Given the description of an element on the screen output the (x, y) to click on. 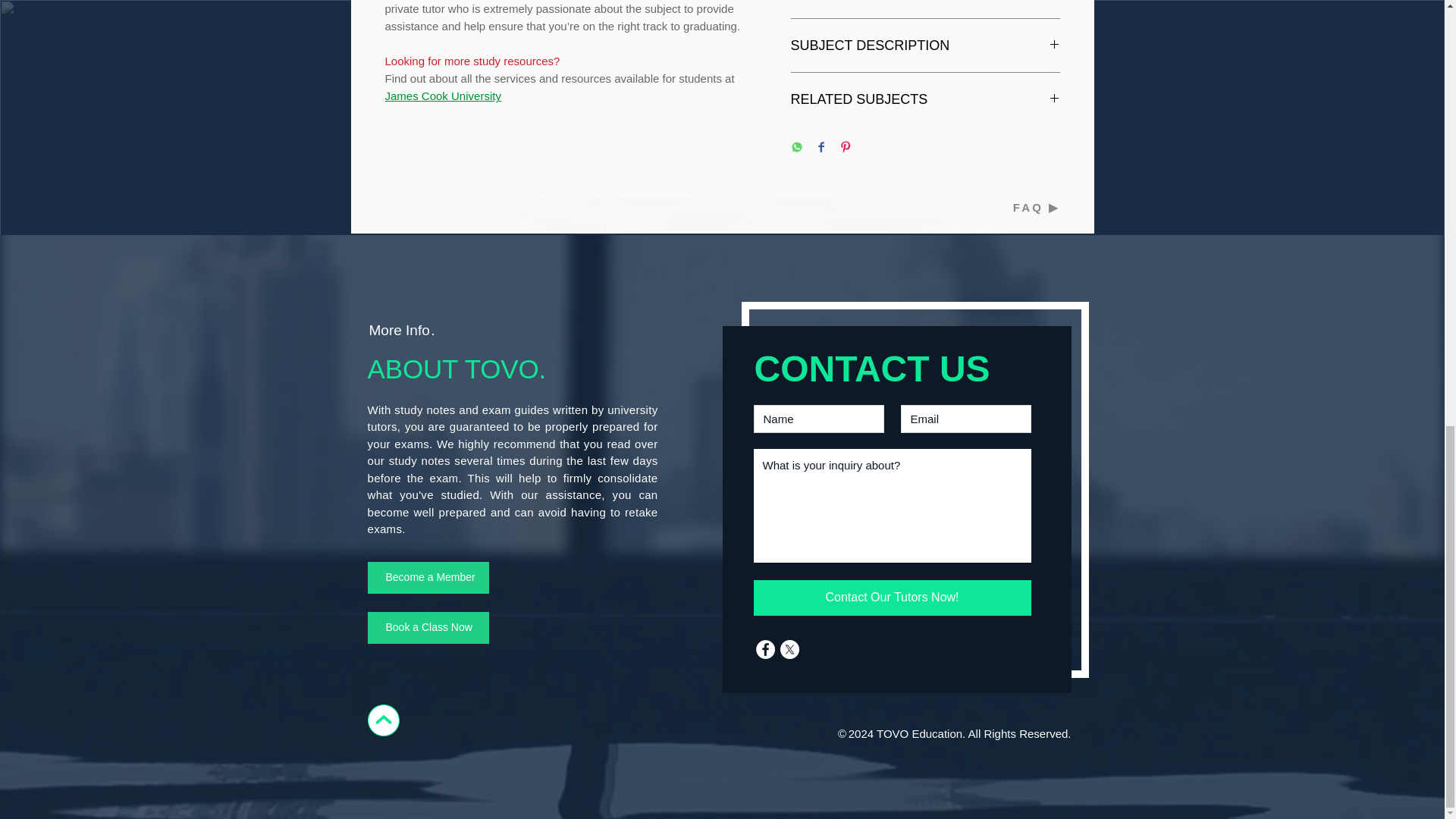
Become a Member (426, 577)
RELATED SUBJECTS (924, 98)
Book a Class Now (426, 627)
James Cook University (442, 95)
Contact Our Tutors Now! (892, 597)
SUBJECT DESCRIPTION (924, 45)
